Given the description of an element on the screen output the (x, y) to click on. 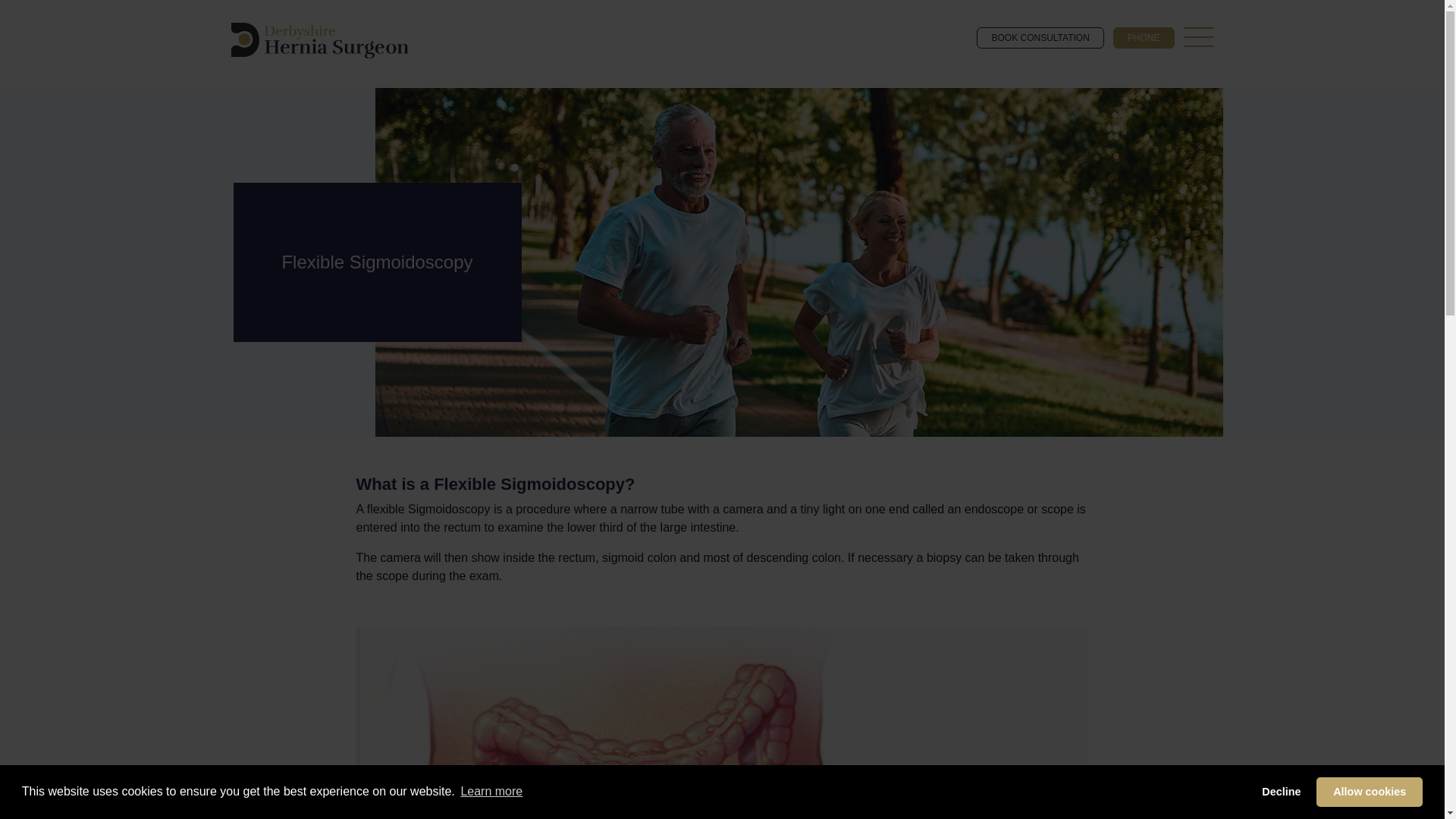
Decline (1281, 791)
Derbyshire Hernia Surgeon (318, 40)
PHONE (1143, 37)
Derbyshire Hernia Surgeon (318, 40)
Learn more (491, 791)
Allow cookies (1369, 791)
BOOK CONSULTATION (1039, 37)
